Given the description of an element on the screen output the (x, y) to click on. 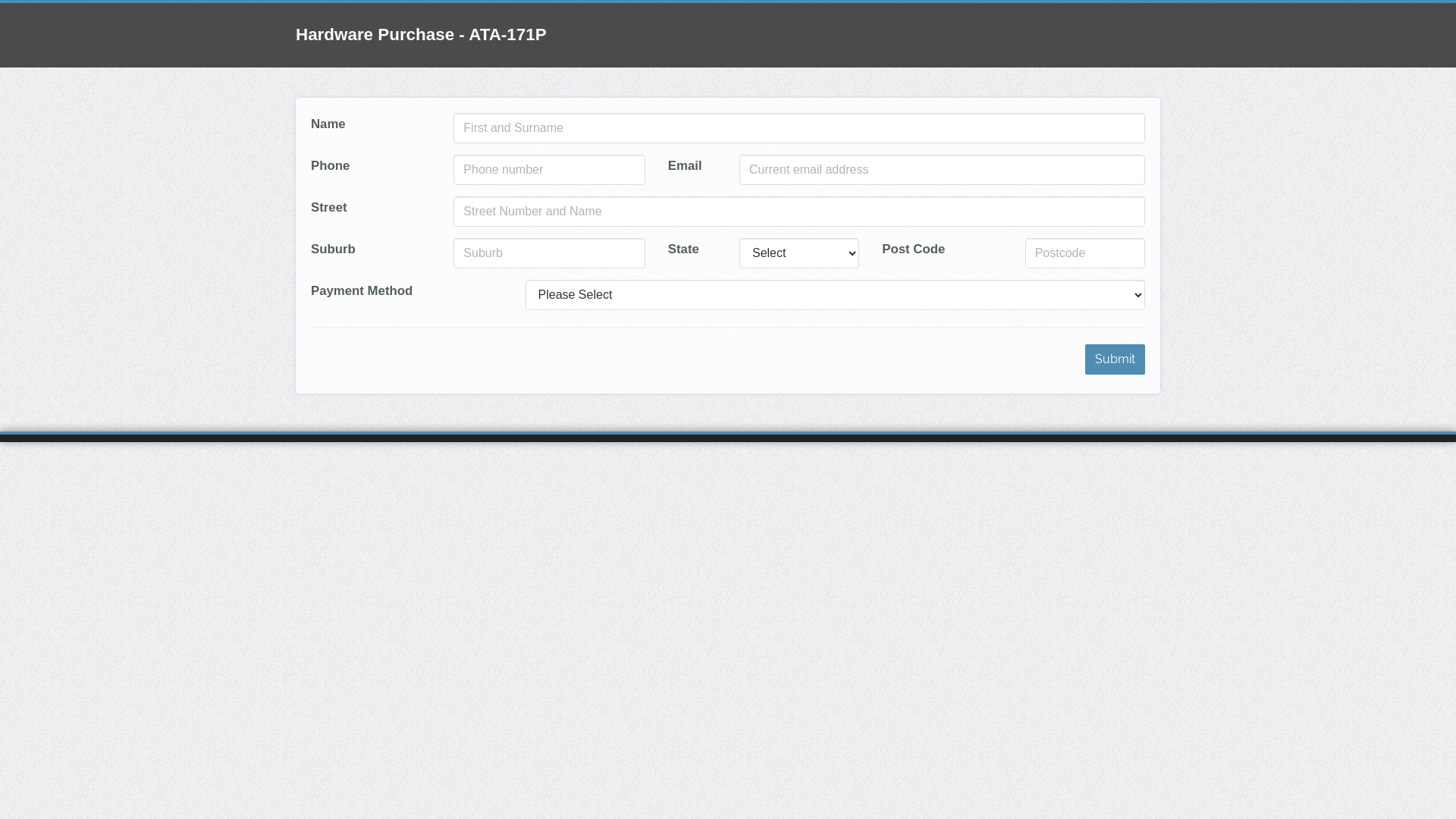
Submit Element type: text (1115, 359)
